Given the description of an element on the screen output the (x, y) to click on. 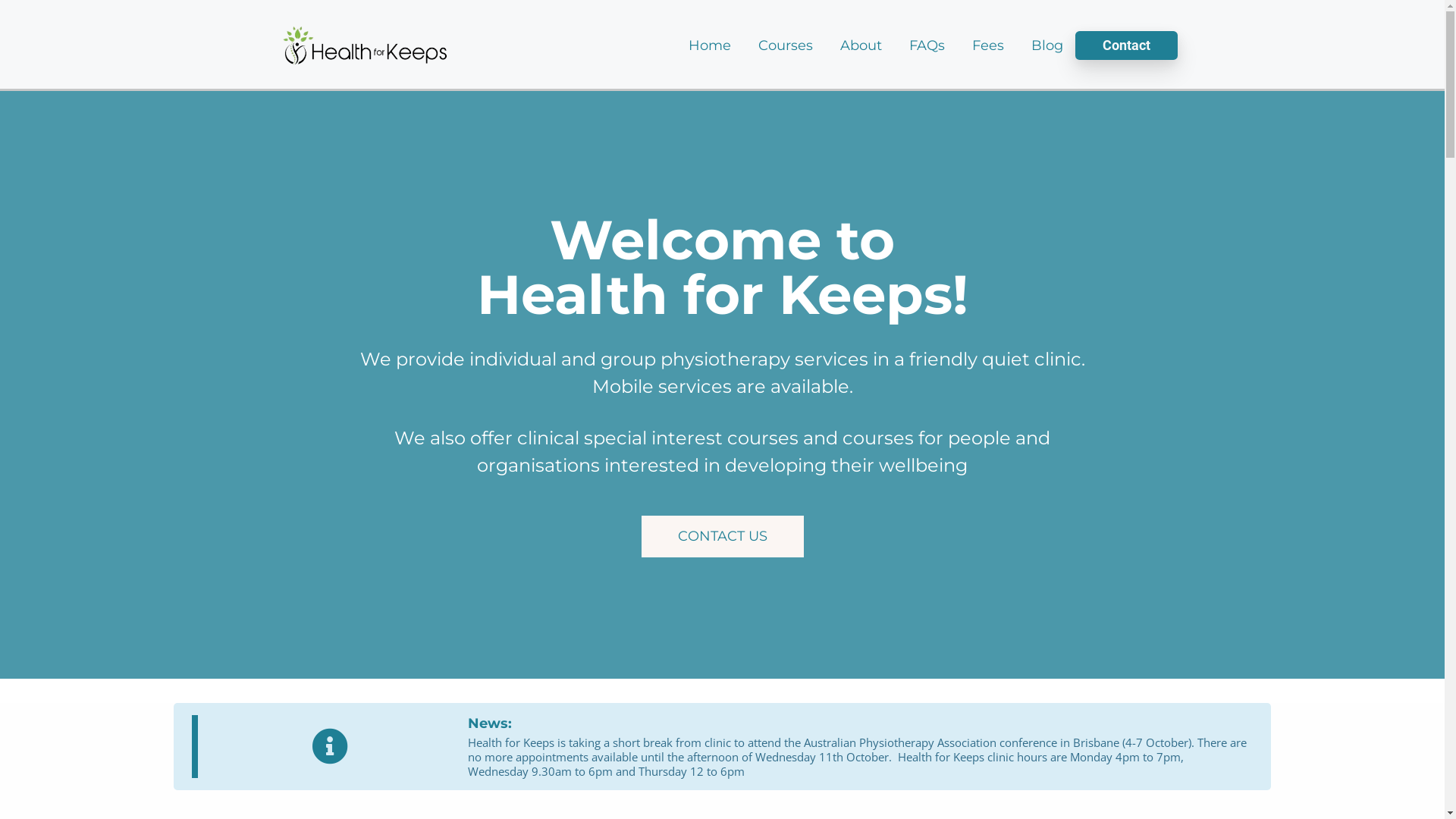
Fees Element type: text (988, 45)
Home Element type: text (709, 45)
Contact Element type: text (1126, 45)
Blog Element type: text (1047, 45)
Courses Element type: text (785, 45)
CONTACT US Element type: text (722, 536)
FAQs Element type: text (926, 45)
About Element type: text (860, 45)
